Given the description of an element on the screen output the (x, y) to click on. 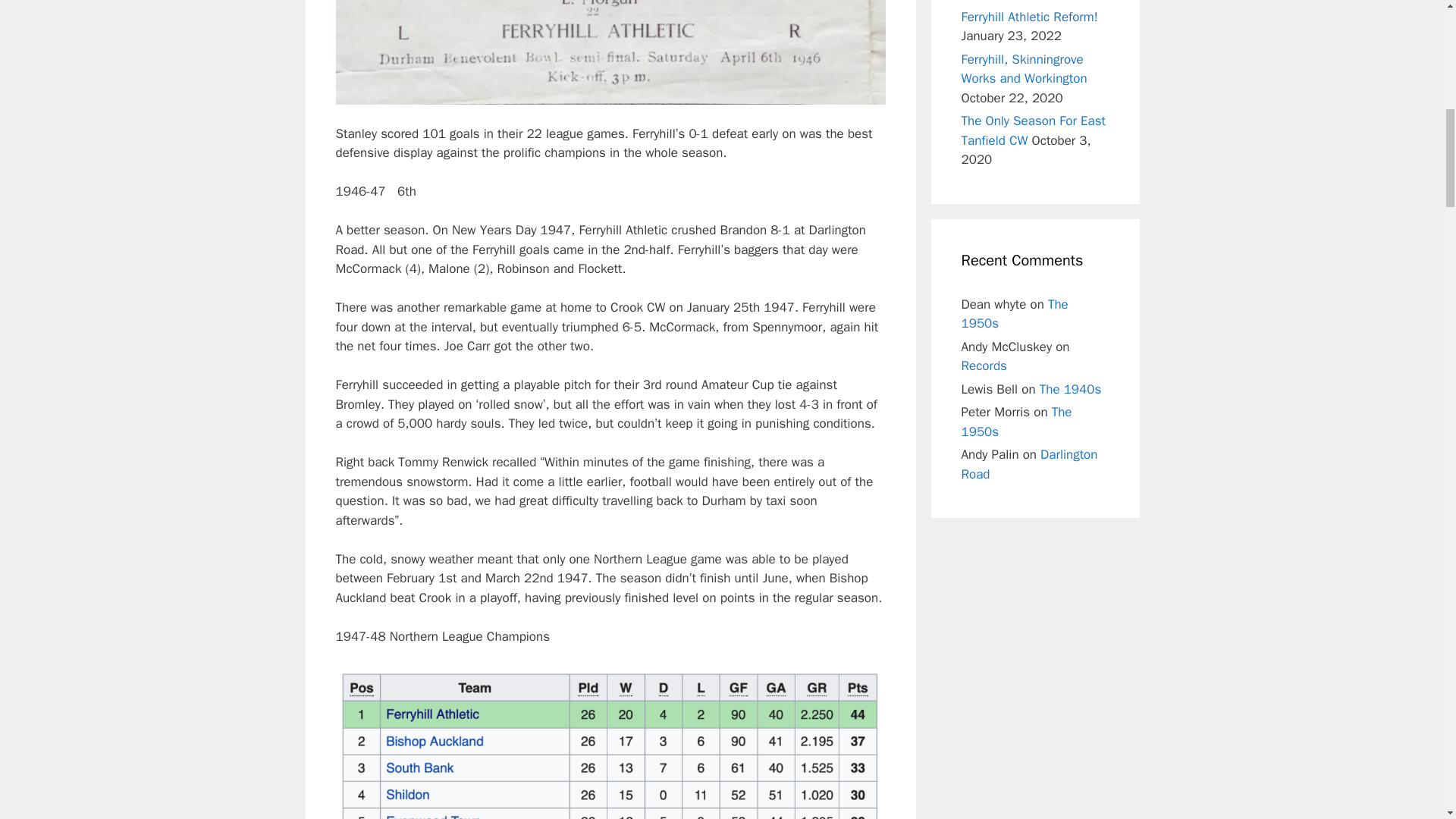
Ferryhill, Skinningrove Works and Workington (1023, 68)
The Only Season For East Tanfield CW (1033, 130)
Ferryhill Athletic Reform! (1028, 17)
